Given the description of an element on the screen output the (x, y) to click on. 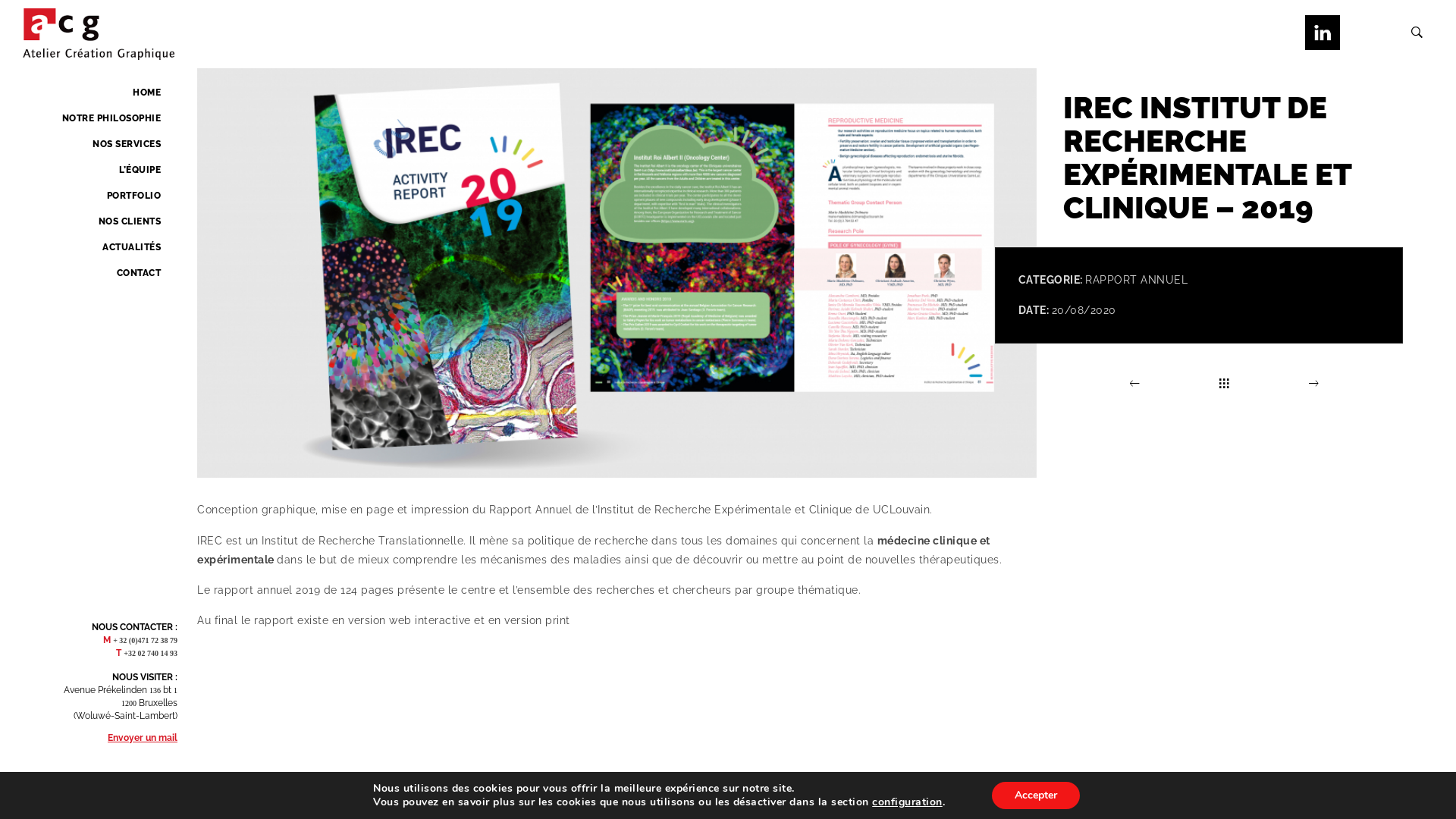
HOME Element type: text (146, 92)
NOS SERVICES Element type: text (126, 143)
Accepter Element type: text (1035, 795)
Search Element type: text (746, 426)
CONTACT Element type: text (138, 272)
+32 02 740 14 93 Element type: text (150, 653)
+ 32 (0)471 72 38 79 Element type: text (144, 640)
Envoyer un mail Element type: text (142, 737)
NOS CLIENTS Element type: text (129, 221)
PORTFOLIO Element type: text (133, 195)
NOTRE PHILOSOPHIE Element type: text (111, 118)
